Given the description of an element on the screen output the (x, y) to click on. 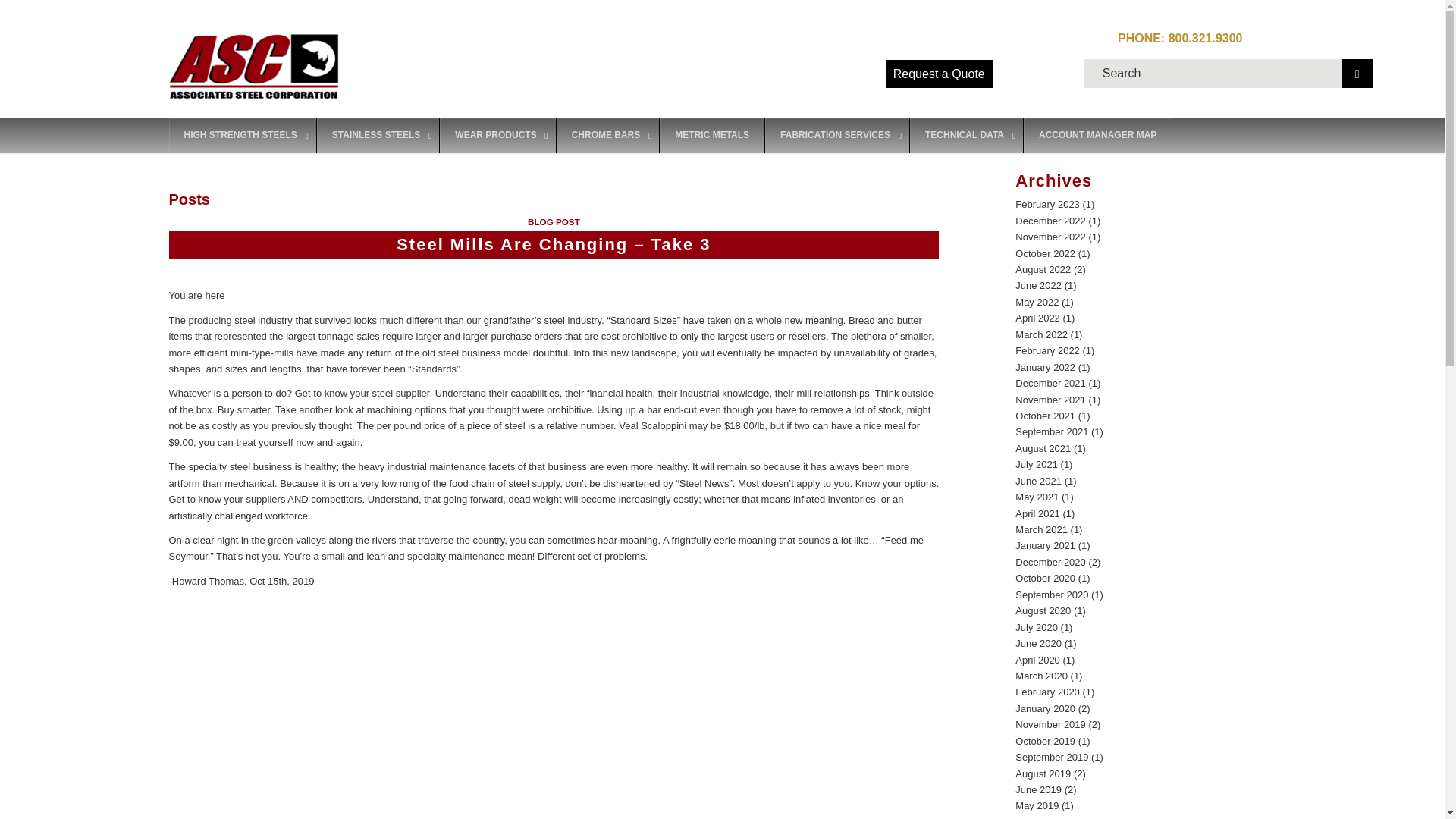
CHROME BARS (607, 135)
TECHNICAL DATA (965, 135)
METRIC METALS (711, 135)
WEAR PRODUCTS (496, 135)
HIGH STRENGTH STEELS (241, 135)
FABRICATION SERVICES (836, 135)
Request a Quote (938, 73)
STAINLESS STEELS (377, 135)
